Given the description of an element on the screen output the (x, y) to click on. 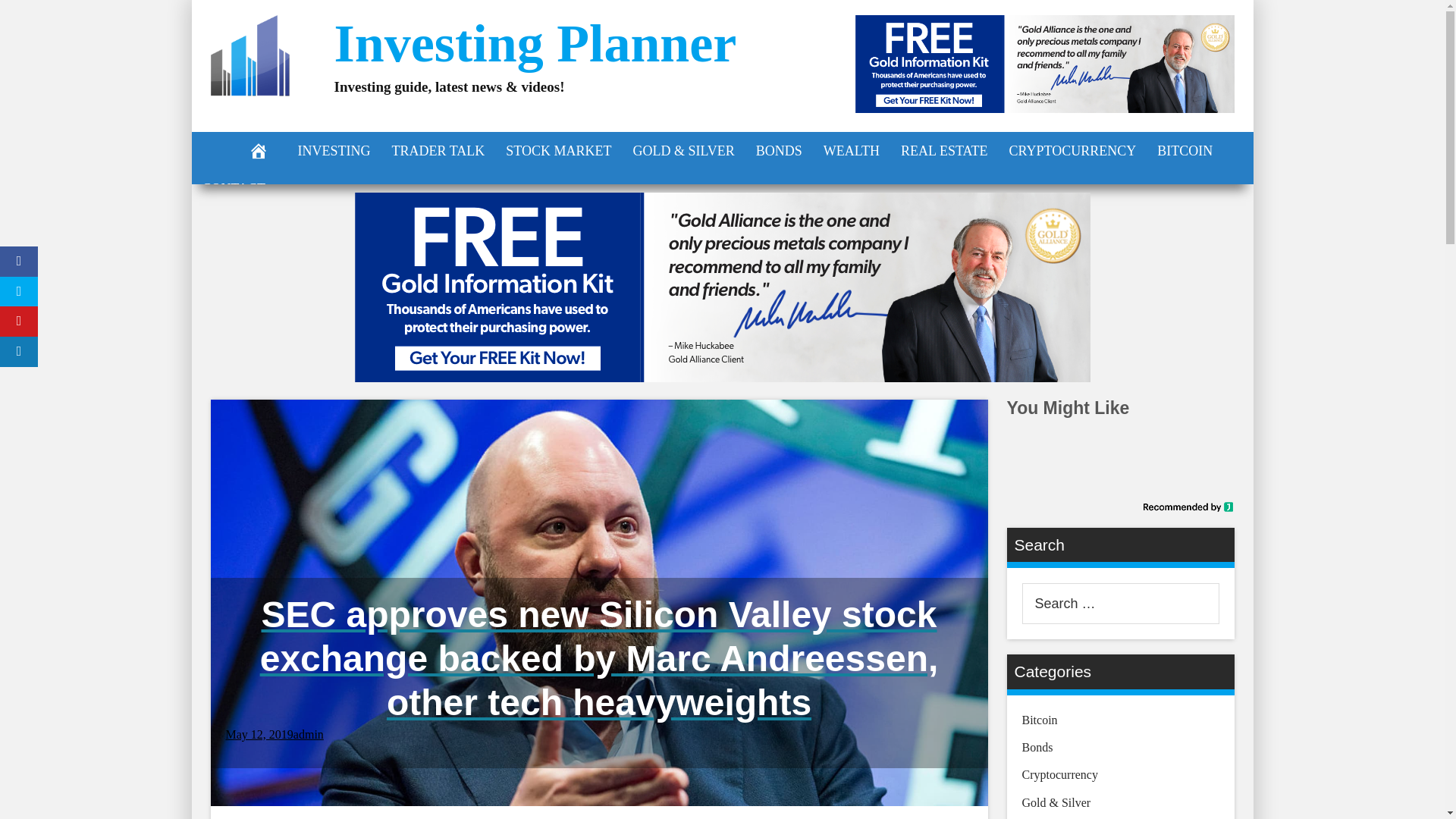
BONDS (778, 150)
STOCK MARKET (558, 150)
TRADER TALK (437, 150)
Investing Planner (534, 43)
INVESTING (333, 150)
